Given the description of an element on the screen output the (x, y) to click on. 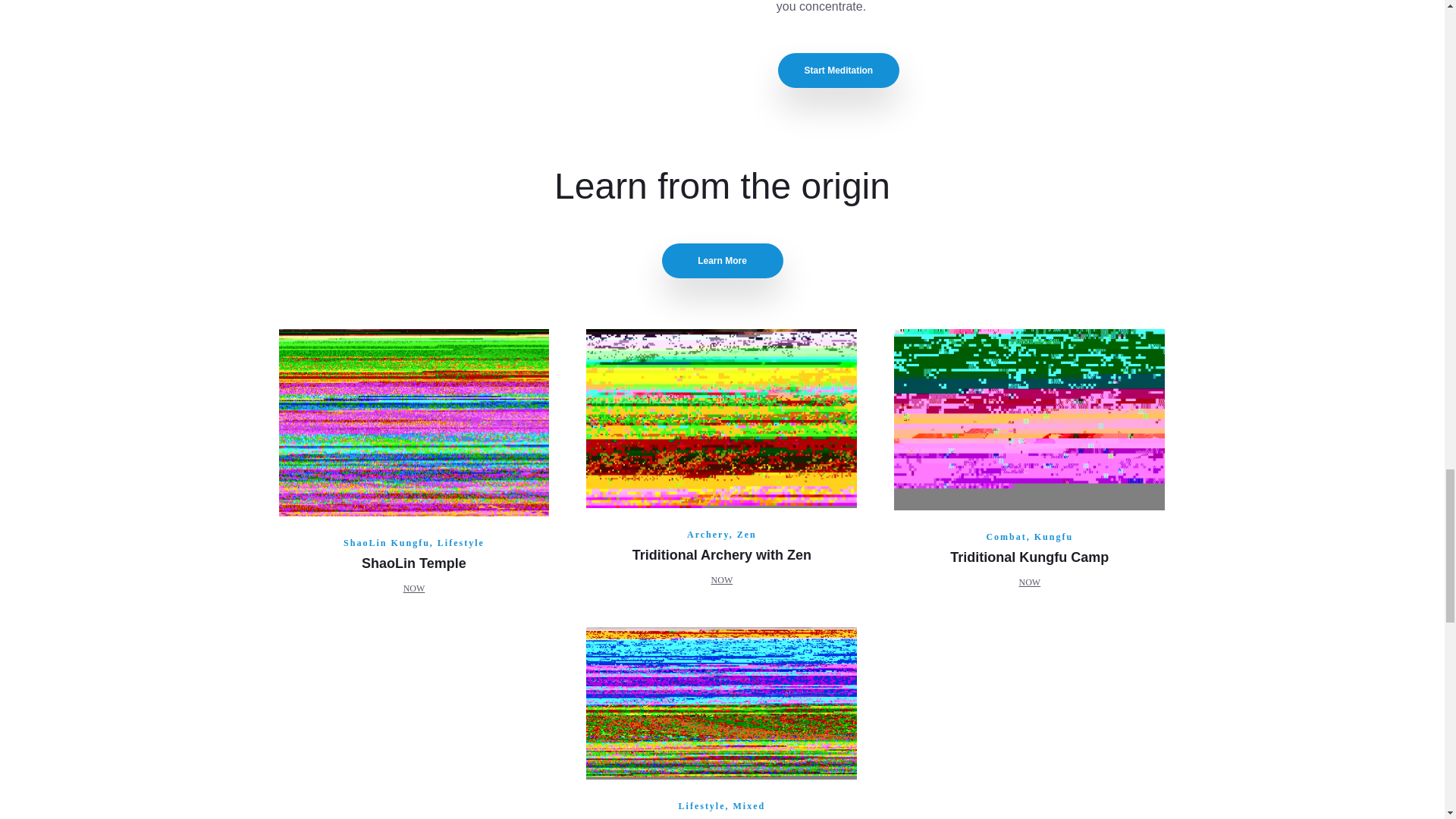
Learn More (722, 260)
Start Meditation (838, 70)
ShaoLin Temple (413, 563)
